Given the description of an element on the screen output the (x, y) to click on. 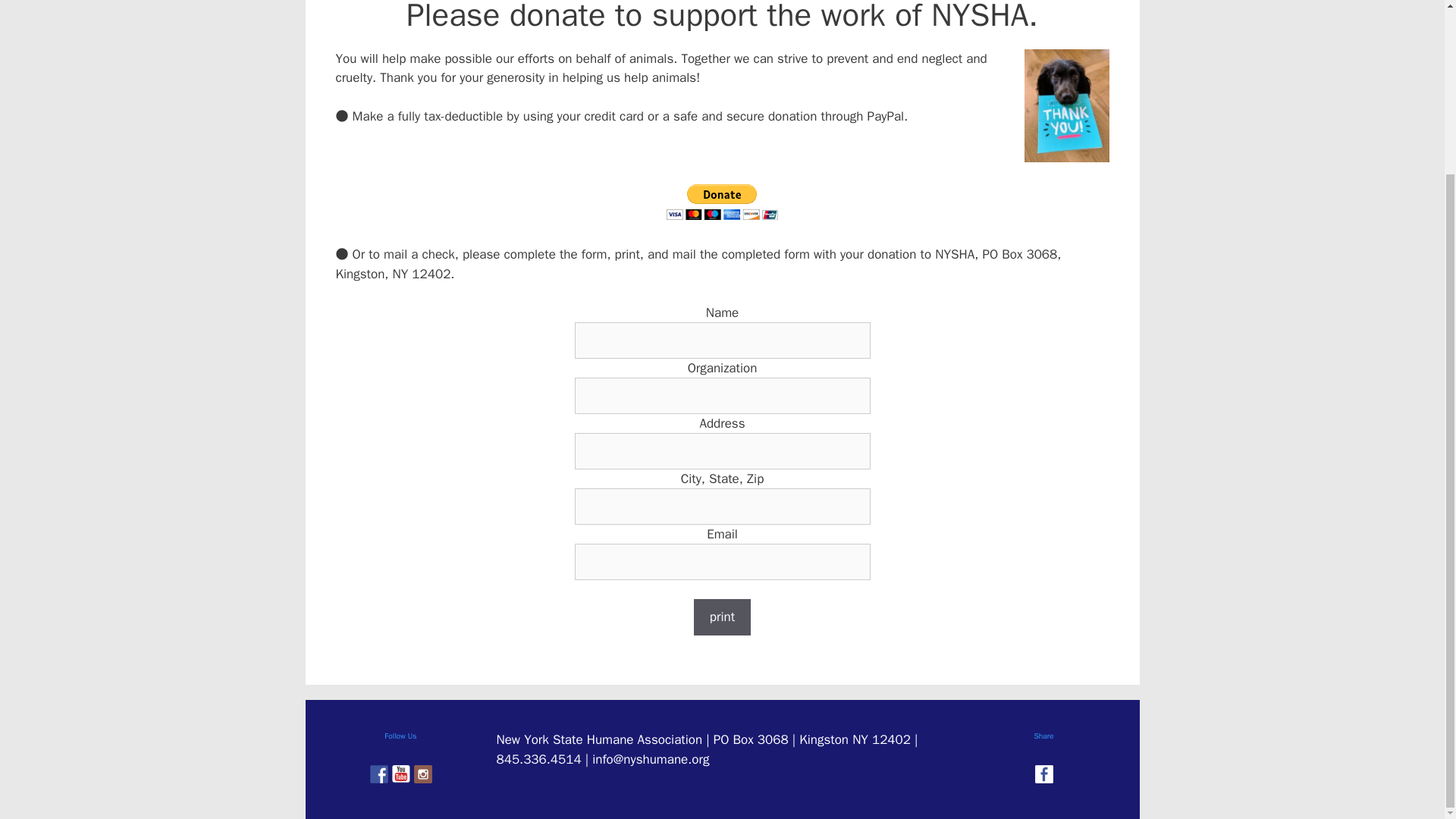
PayPal - The safer, easier way to pay online! (721, 202)
Follow us on Facebook (378, 773)
Check out our instagram feed (422, 773)
Share on Facebook (1042, 773)
Find us on YouTube (400, 773)
print (722, 616)
